Given the description of an element on the screen output the (x, y) to click on. 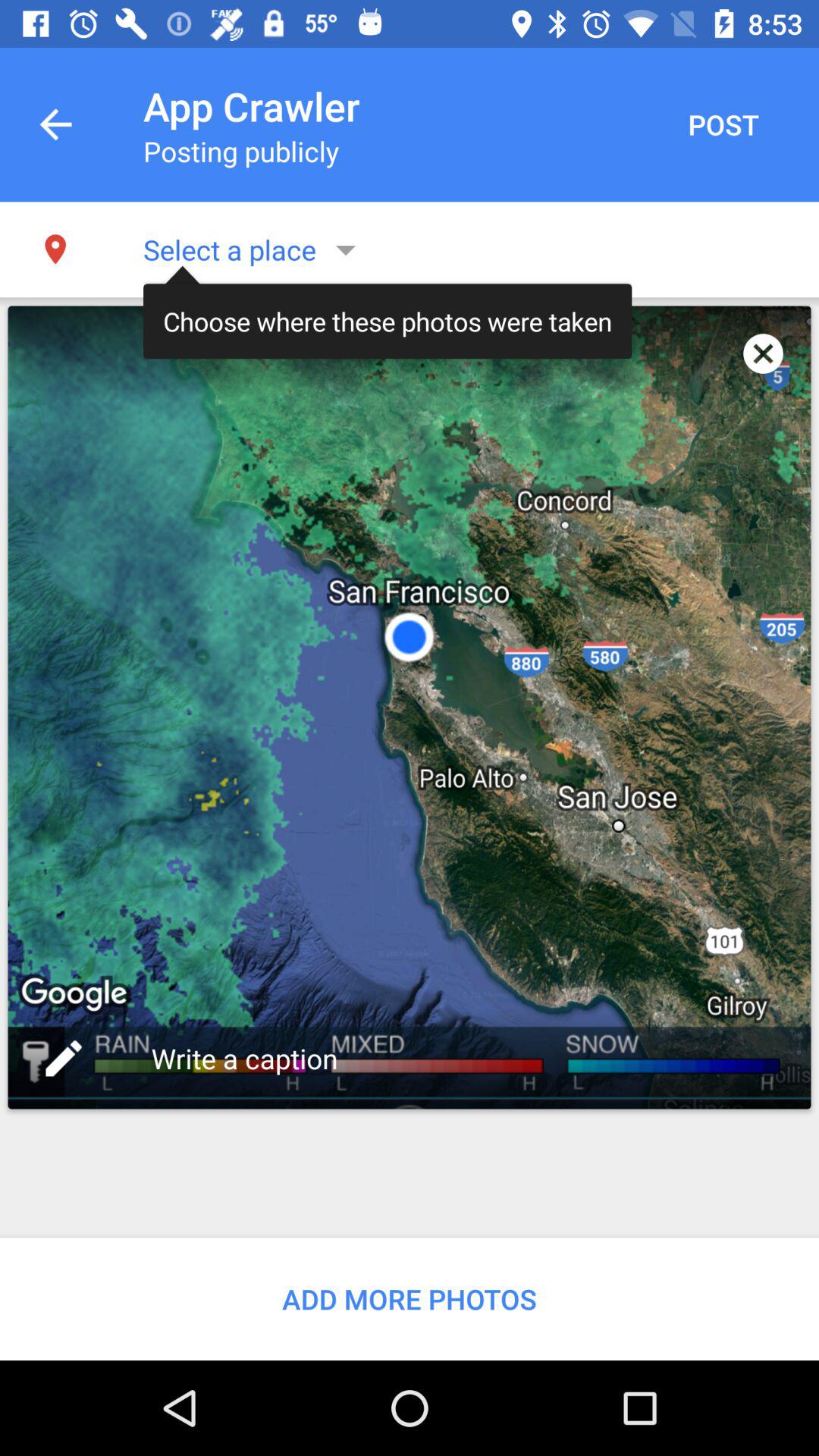
launch the post button (723, 124)
